Given the description of an element on the screen output the (x, y) to click on. 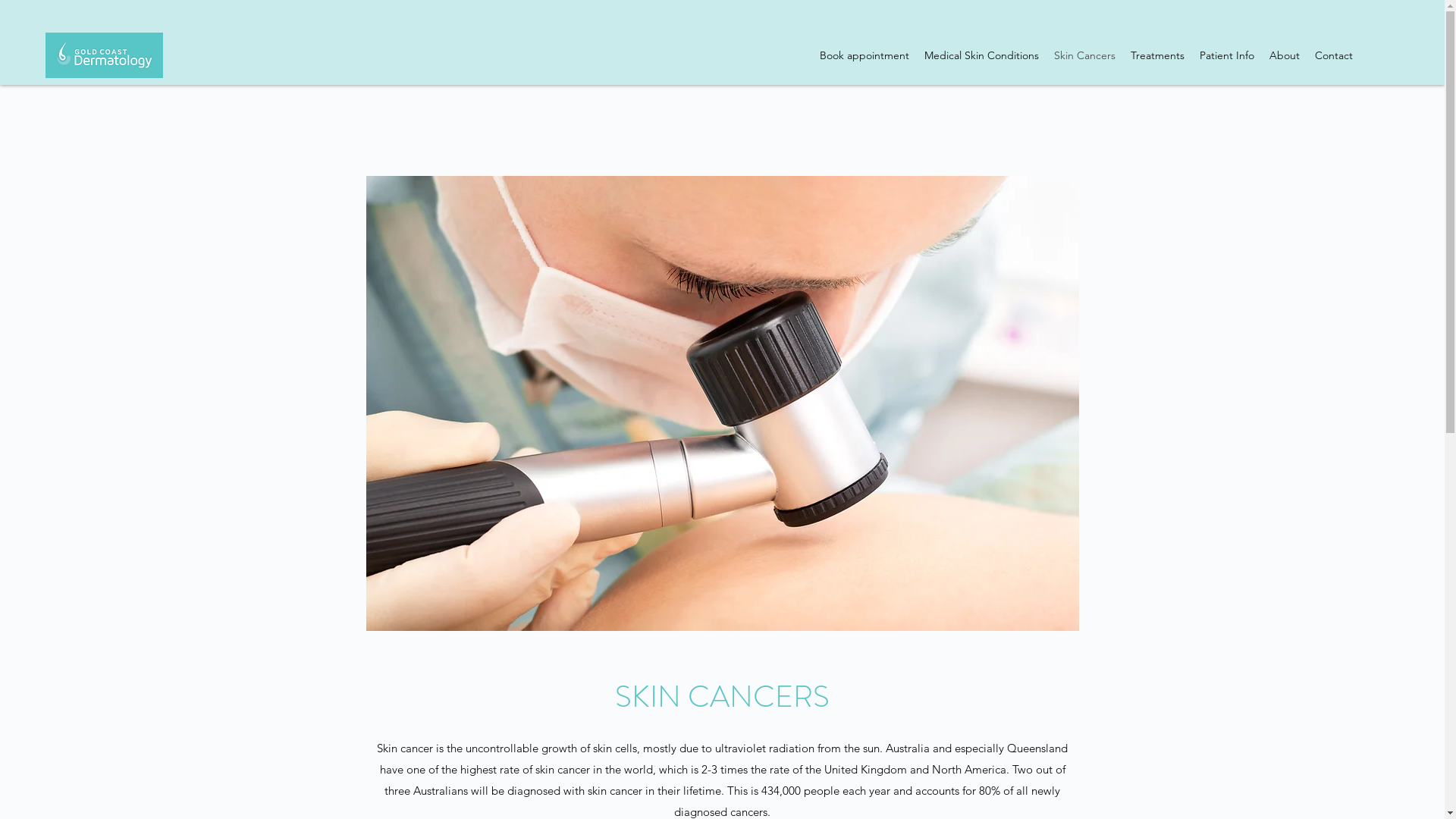
Treatments Element type: text (1157, 54)
About Element type: text (1284, 54)
Medical Skin Conditions Element type: text (981, 54)
Book appointment Element type: text (864, 54)
Skin Cancers Element type: text (1084, 54)
Patient Info Element type: text (1226, 54)
Contact Element type: text (1333, 54)
